Given the description of an element on the screen output the (x, y) to click on. 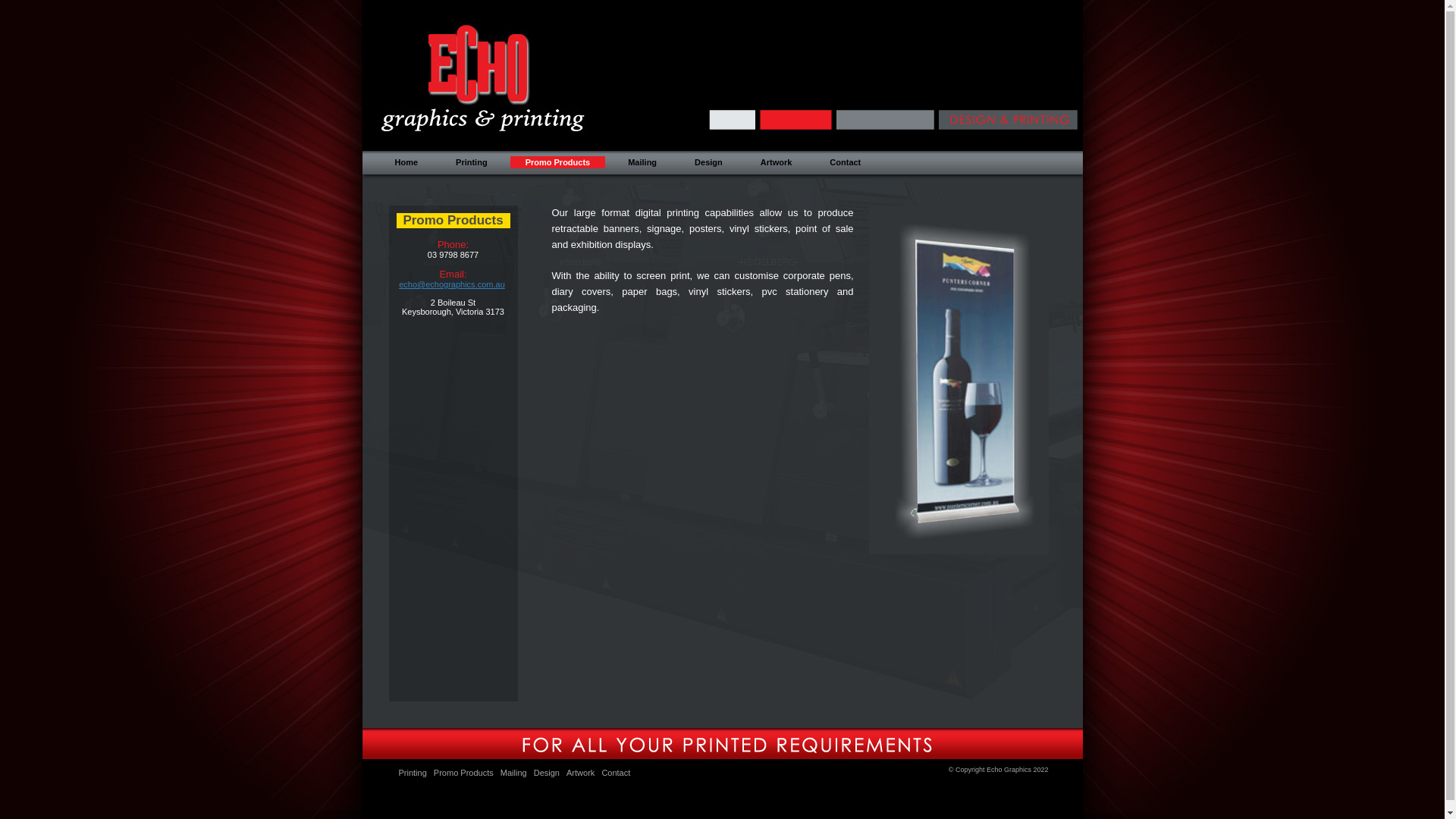
Home Element type: text (406, 162)
Mailing Element type: text (513, 772)
Design Element type: text (708, 162)
Contact Element type: text (844, 162)
Printing Element type: text (411, 772)
Artwork Element type: text (580, 772)
echo@echographics.com.au Element type: text (451, 283)
Contact Element type: text (615, 772)
Printing Element type: text (471, 162)
Artwork Element type: text (776, 162)
Promo Products Element type: text (463, 772)
Mailing Element type: text (641, 162)
Design Element type: text (546, 772)
